Given the description of an element on the screen output the (x, y) to click on. 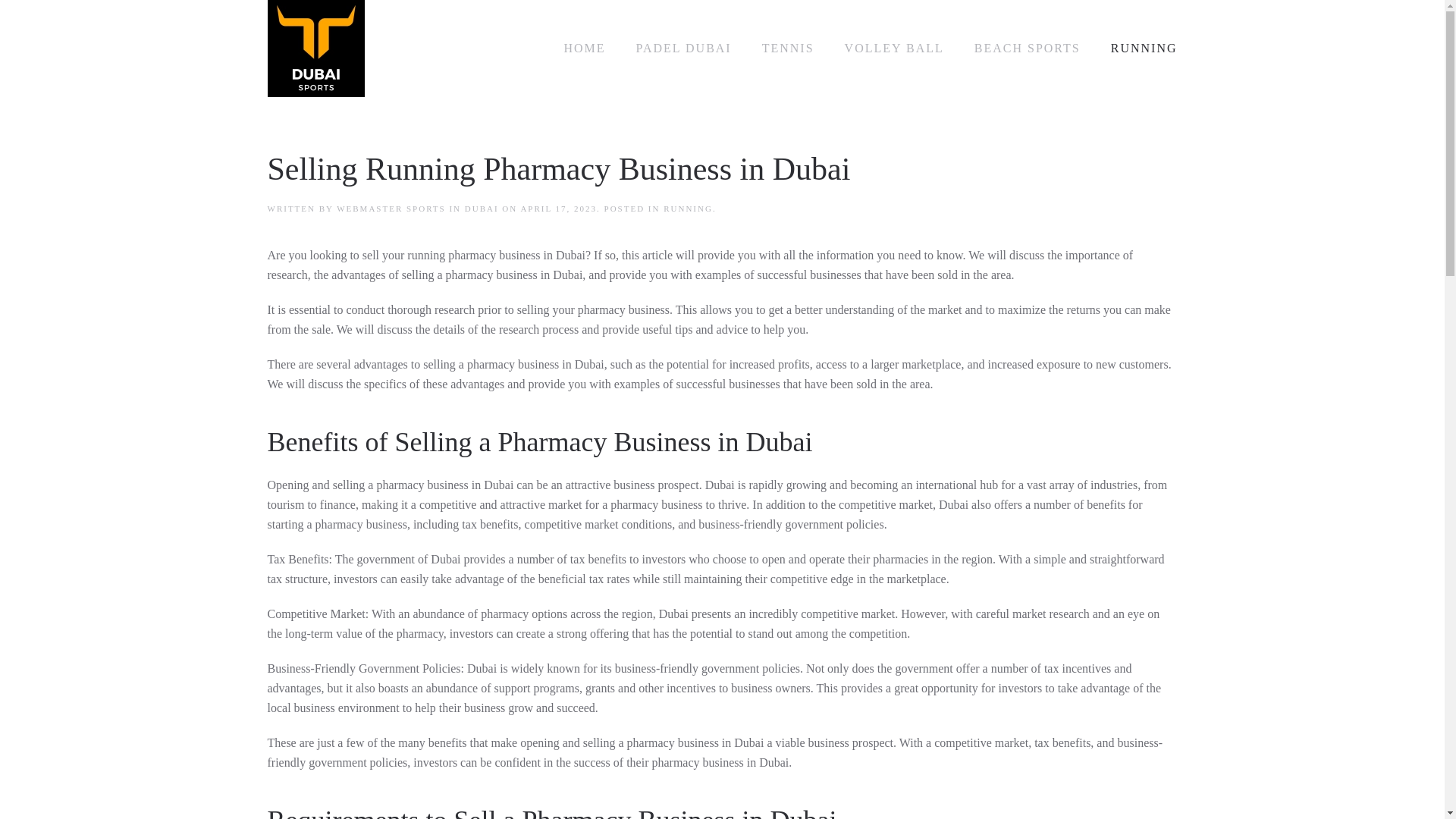
RUNNING (1143, 48)
WEBMASTER SPORTS IN DUBAI (416, 207)
BEACH SPORTS (1027, 48)
VOLLEY BALL (893, 48)
PADEL DUBAI (684, 48)
HOME (584, 48)
RUNNING (688, 207)
TENNIS (787, 48)
